Given the description of an element on the screen output the (x, y) to click on. 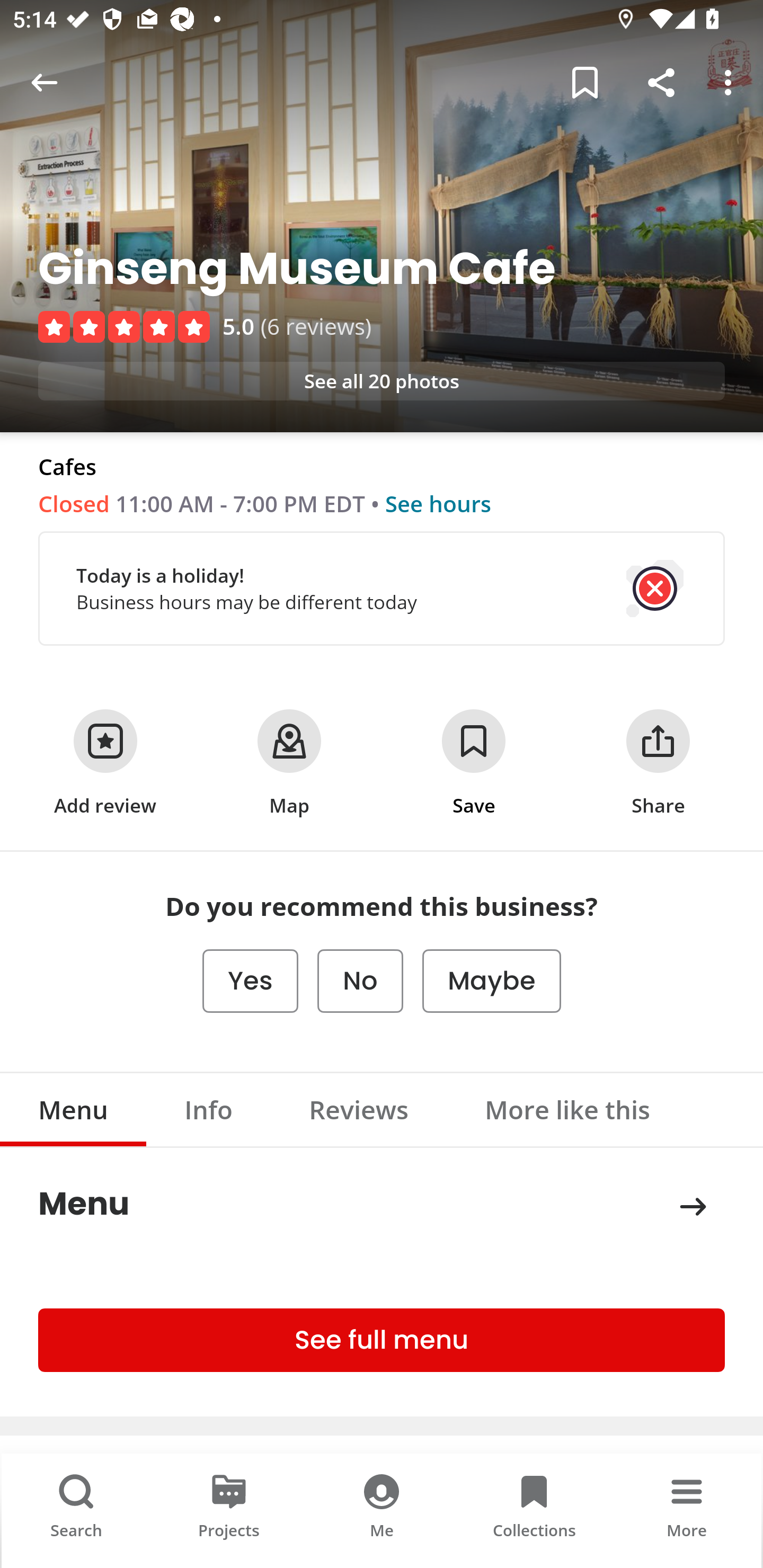
See full menu (381, 1339)
